Given the description of an element on the screen output the (x, y) to click on. 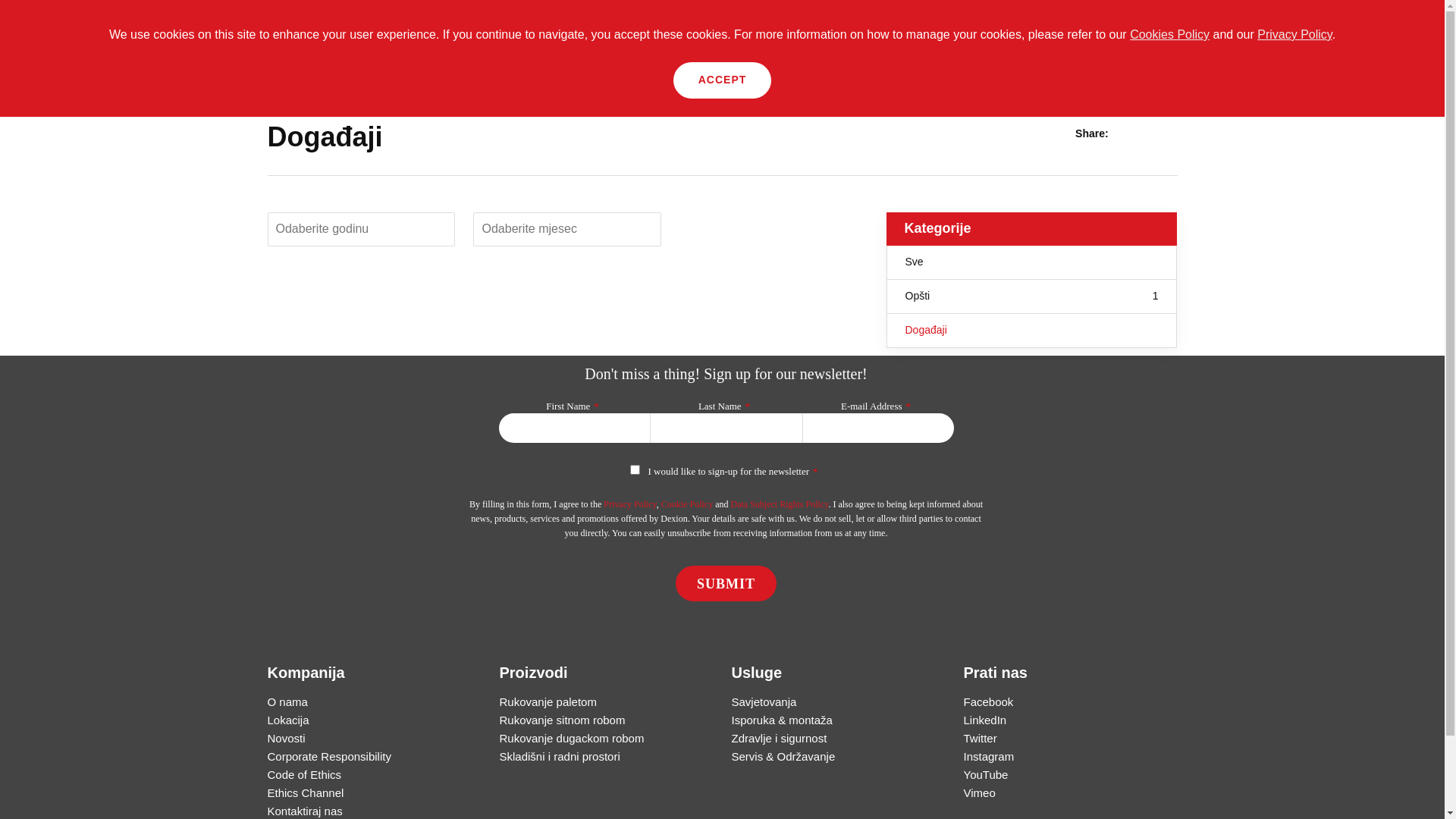
O nama Element type: text (286, 701)
Corporate Responsibility Element type: text (328, 755)
Vimeo Element type: text (978, 792)
Novosti Element type: text (285, 737)
Cookies Policy Element type: text (1169, 34)
Share on Twitter Element type: text (1148, 133)
Savjetovanja Element type: text (763, 701)
KONTAKTIRAJTE NAS Element type: text (583, 36)
Home Element type: text (280, 85)
Privacy Policy Element type: text (1294, 34)
LinkedIn Element type: text (984, 719)
Lokacija Element type: text (287, 719)
Odaberite godinu Element type: text (360, 229)
Submit Element type: text (725, 583)
Kontaktiraj nas Element type: text (304, 810)
Instagram Element type: text (988, 755)
Ethics Channel Element type: text (304, 792)
Rukovanje sitnom robom Element type: text (561, 719)
ACCEPT Element type: text (722, 80)
Rukovanje dugackom robom Element type: text (570, 737)
Kompanija Element type: text (339, 85)
Code of Ethics Element type: text (303, 774)
PROIZVODI Element type: text (372, 36)
Cookie Policy Element type: text (686, 503)
KOMPANIJA Element type: text (272, 36)
Facebook Element type: text (988, 701)
Twitter Element type: text (979, 737)
Dexion Storage Solutions Element type: hover (110, 35)
Rukovanje paletom Element type: text (547, 701)
Share on Facebook Element type: text (1128, 133)
Privacy Policy Element type: text (629, 503)
Zdravlje i sigurnost Element type: text (778, 737)
Sve Element type: text (1031, 262)
Data Subject Rights Policy Element type: text (779, 503)
YouTube Element type: text (985, 774)
Novosti Element type: text (402, 85)
USLUGE Element type: text (463, 36)
Odaberite mjesec Element type: text (567, 229)
Share on Linkedin Element type: text (1168, 133)
